Given the description of an element on the screen output the (x, y) to click on. 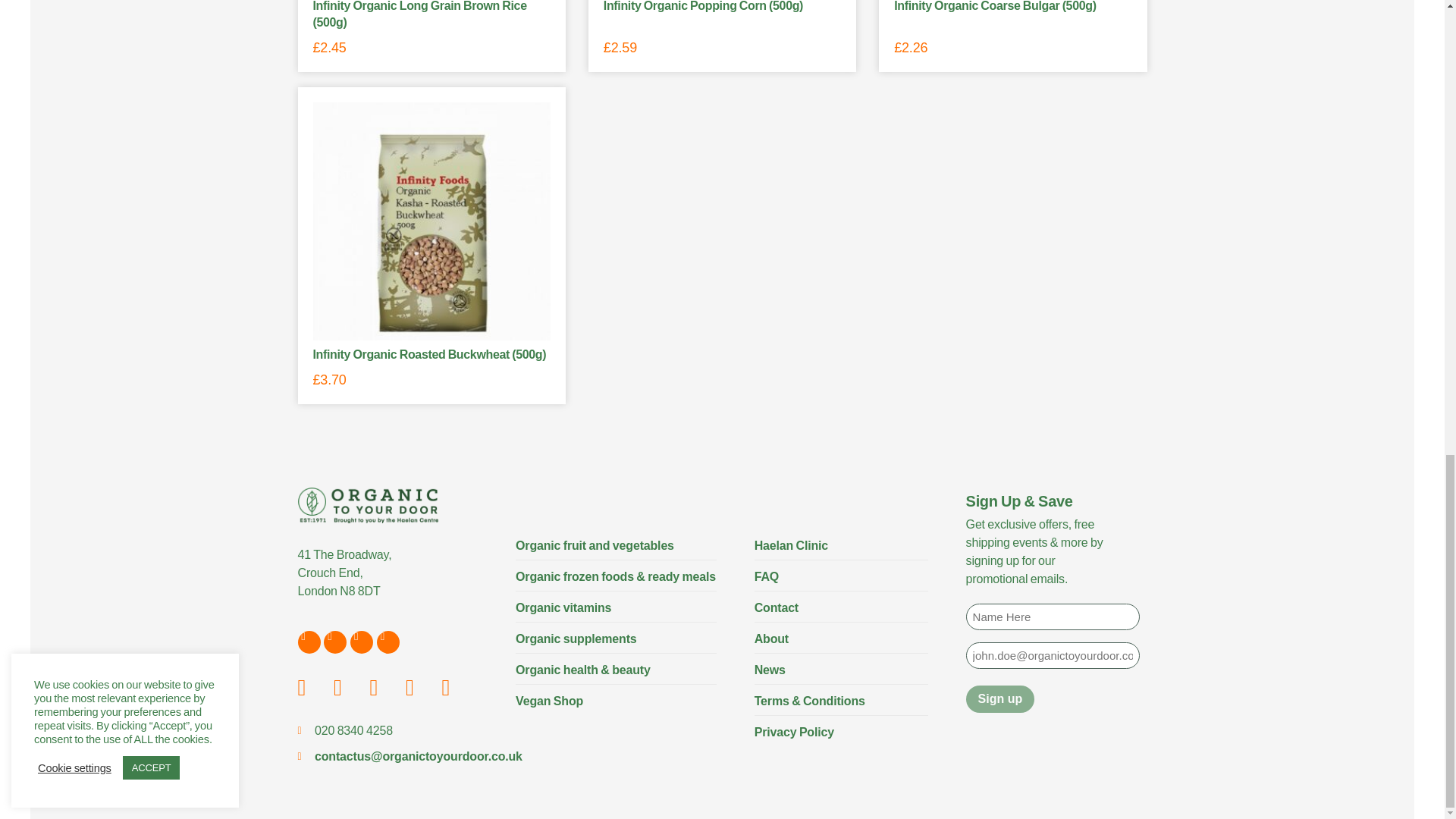
Sign up (1000, 698)
